Given the description of an element on the screen output the (x, y) to click on. 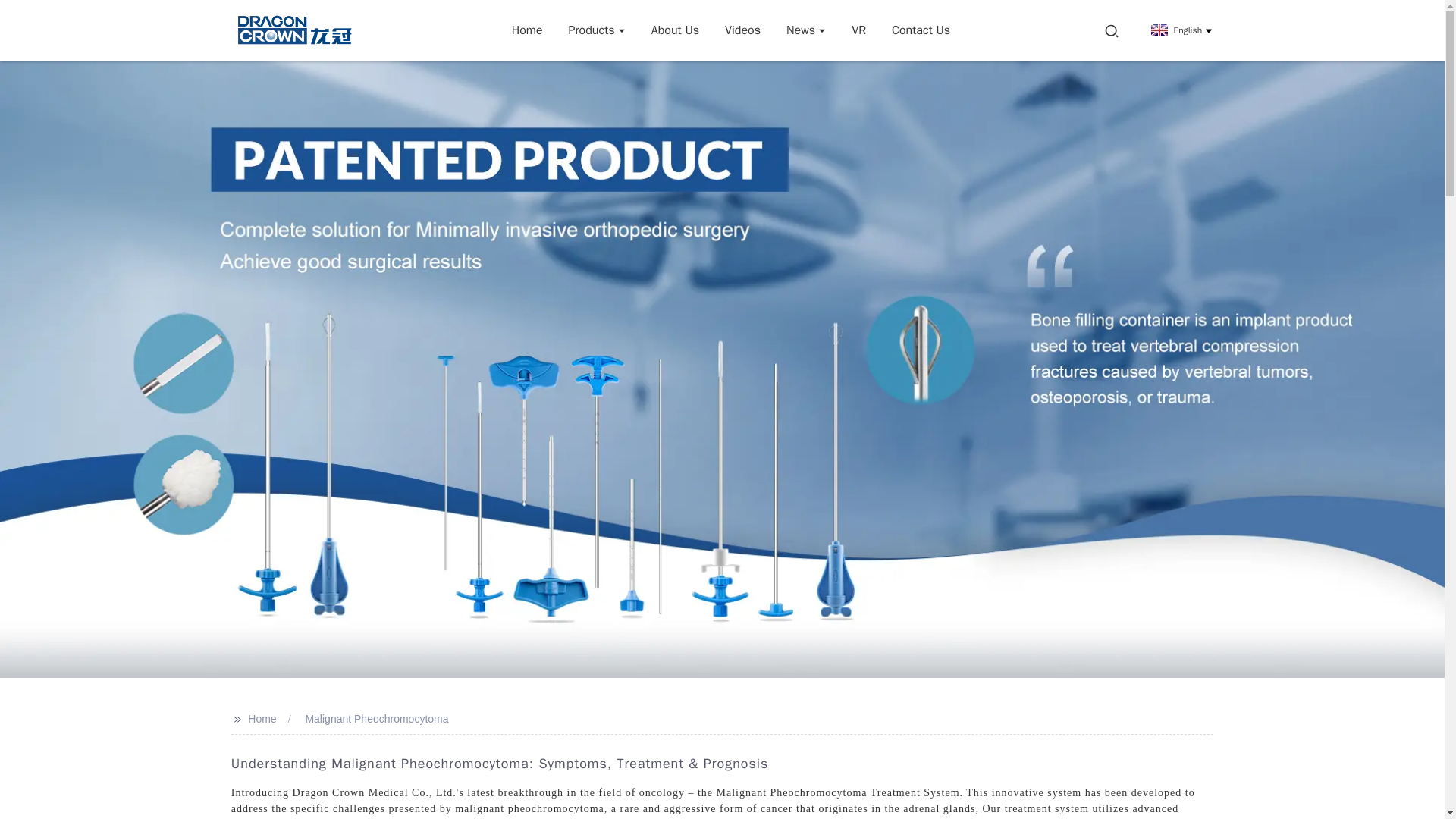
About Us (674, 30)
Videos (743, 30)
Home (526, 30)
Home (526, 30)
Videos (743, 30)
About Us (674, 30)
products (596, 30)
news (805, 30)
VR (859, 30)
Contact Us (920, 30)
Products (596, 30)
News (805, 30)
